Given the description of an element on the screen output the (x, y) to click on. 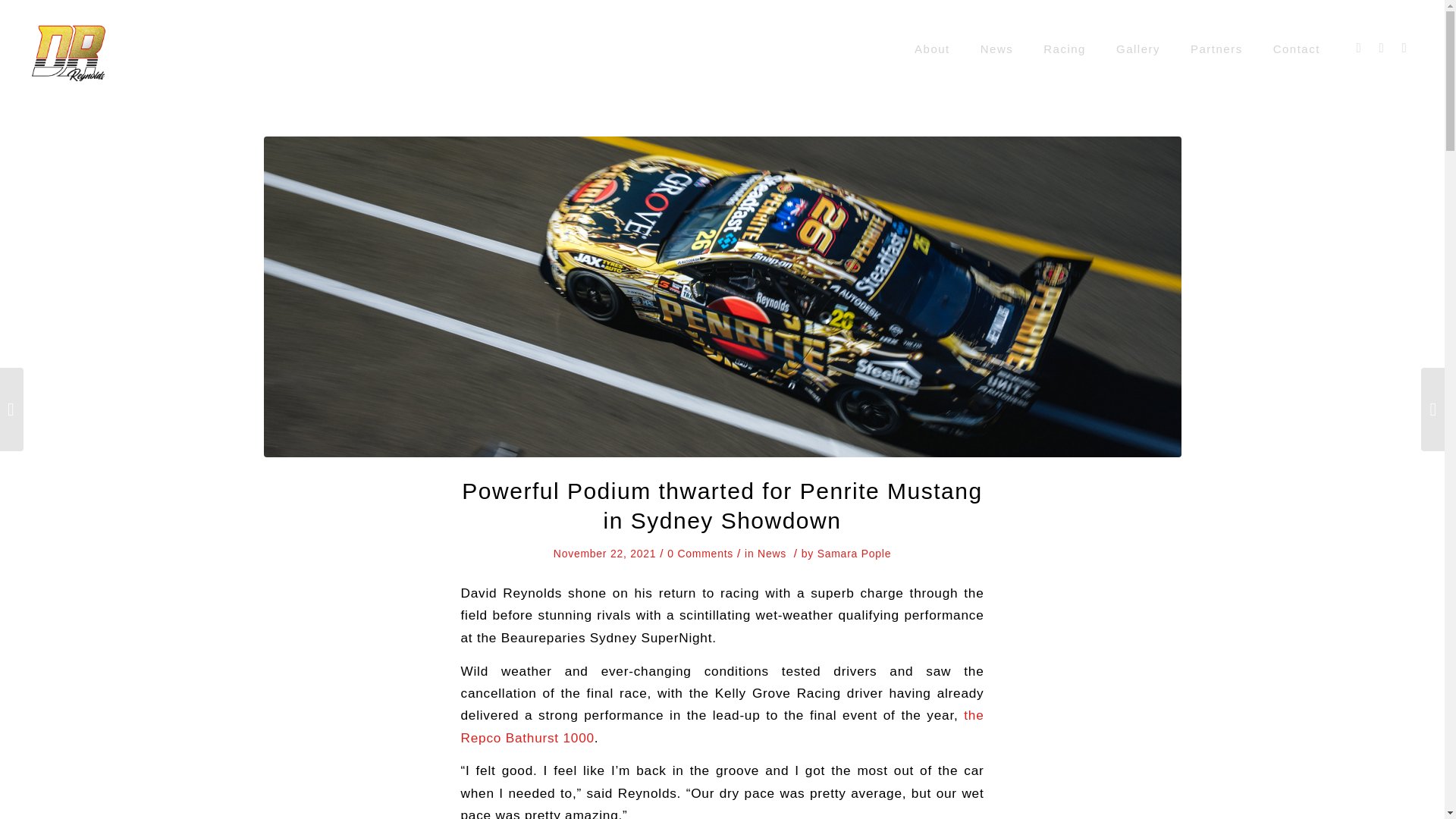
Racing (1063, 49)
Samara Pople (853, 553)
0 Comments (699, 553)
Facebook (1359, 47)
About (932, 49)
Instagram (1381, 47)
Contact (1296, 49)
News (771, 553)
Twitter (1404, 47)
News (997, 49)
Gallery (1137, 49)
the Repco Bathurst 1000 (722, 725)
